Given the description of an element on the screen output the (x, y) to click on. 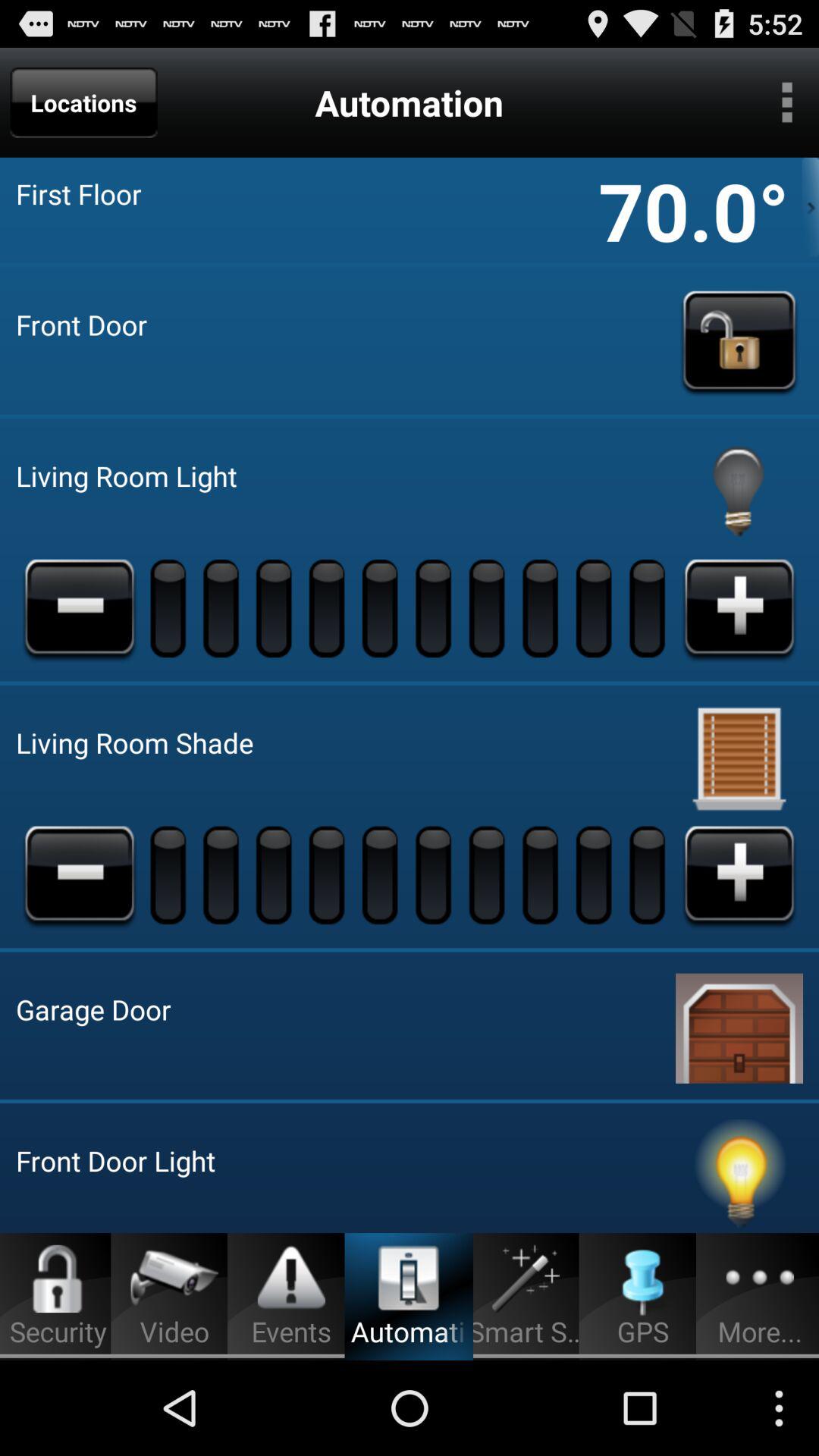
turn up the living room light (739, 607)
